Given the description of an element on the screen output the (x, y) to click on. 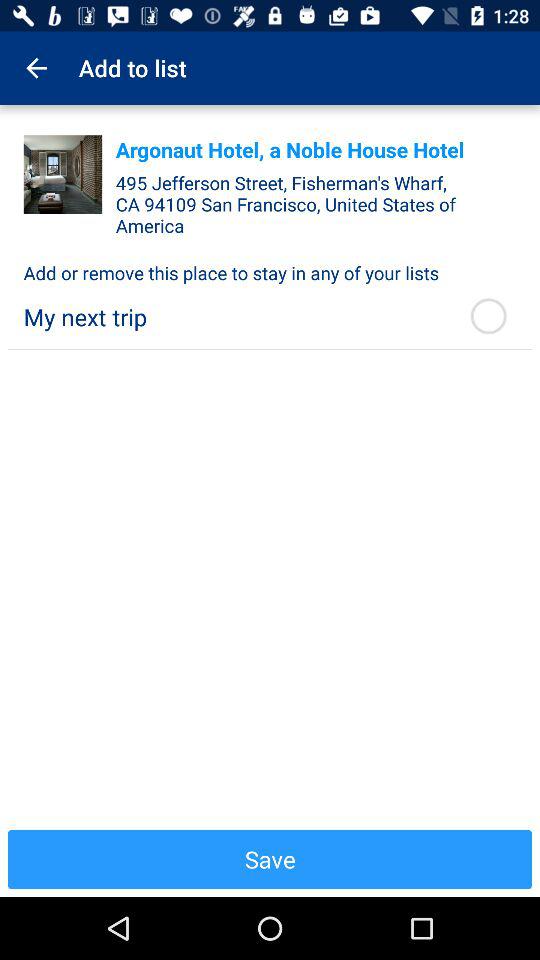
click the item below the my next trip icon (269, 859)
